Given the description of an element on the screen output the (x, y) to click on. 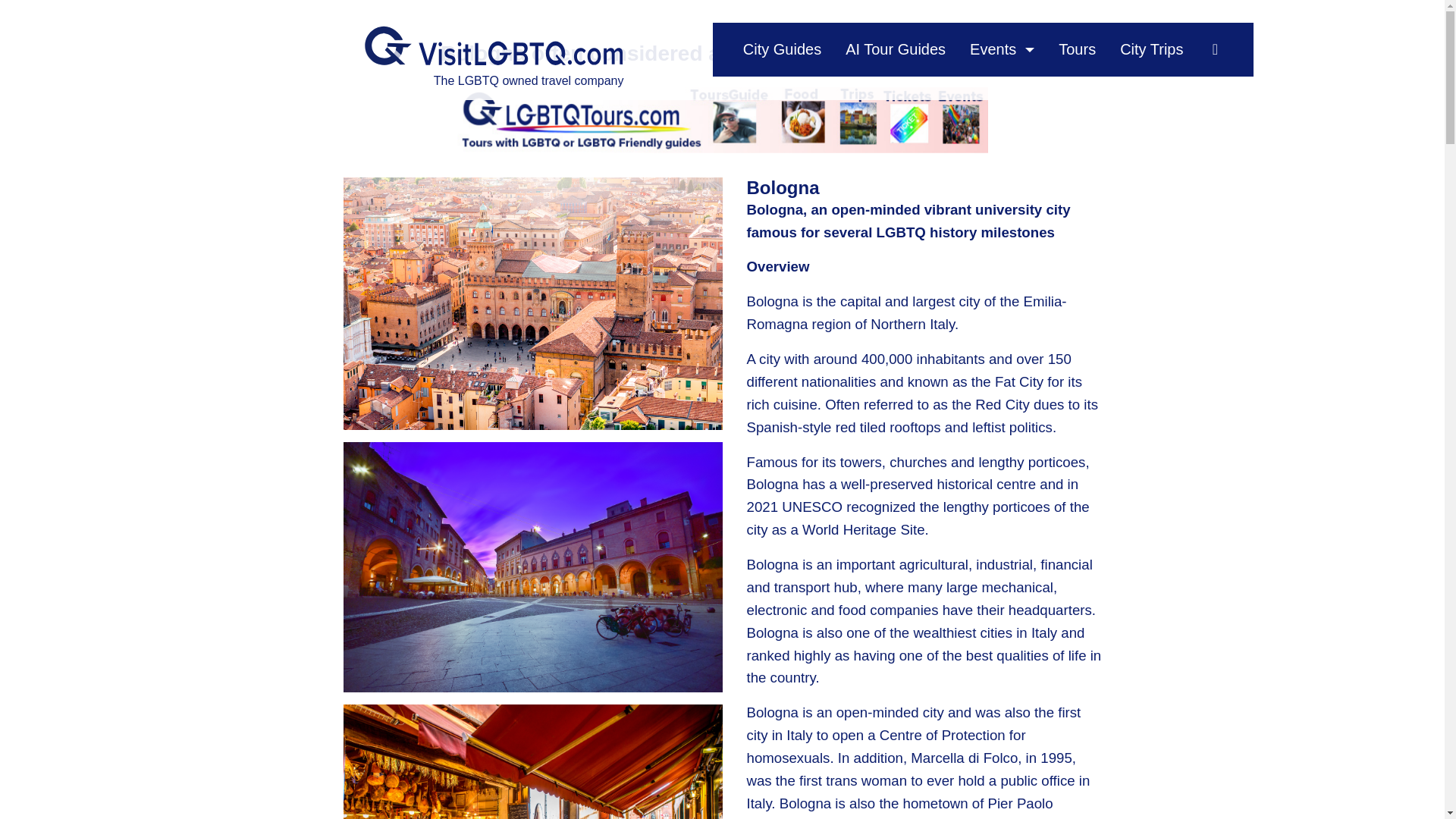
Events (992, 49)
Tours (1077, 49)
City Guides (781, 49)
City Trips (1150, 49)
AI Tour Guides (894, 49)
